Given the description of an element on the screen output the (x, y) to click on. 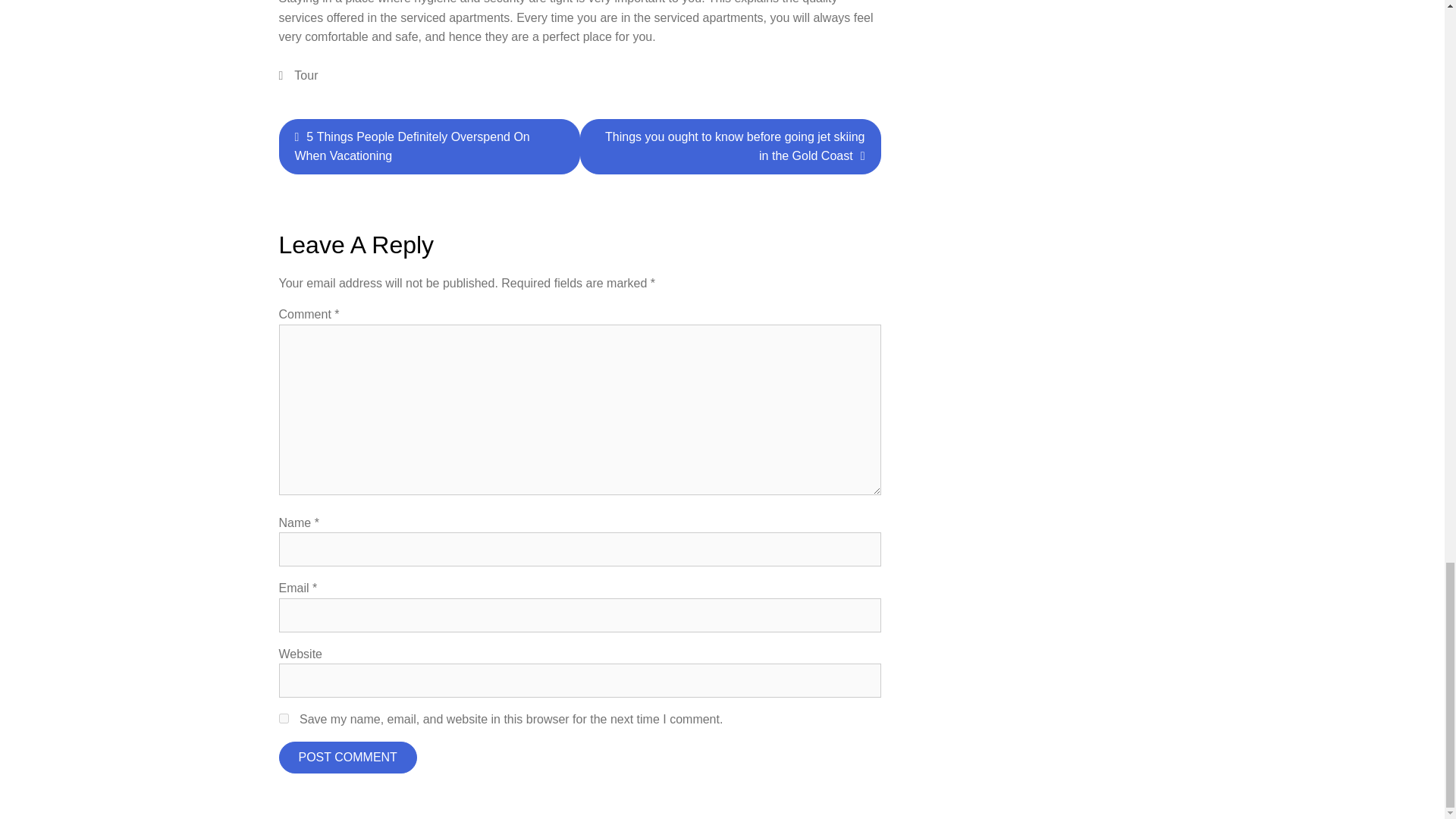
yes (283, 718)
Post Comment (347, 757)
Tour (305, 74)
Post Comment (347, 757)
5 Things People Definitely Overspend On When Vacationing (429, 146)
